Given the description of an element on the screen output the (x, y) to click on. 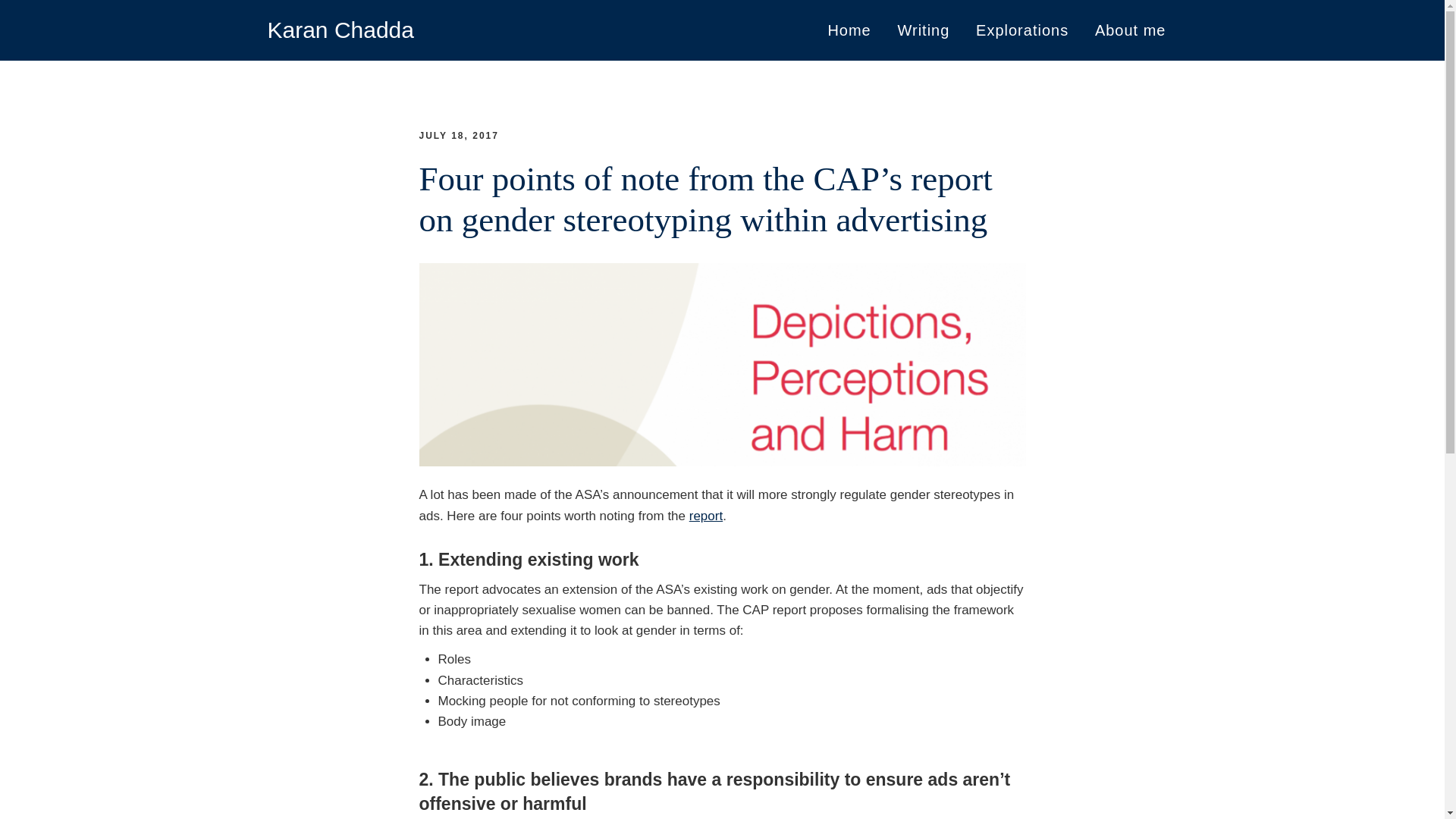
About me (1130, 30)
Home (848, 30)
report (705, 515)
Writing (922, 30)
Karan Chadda (339, 29)
Explorations (1021, 30)
